Given the description of an element on the screen output the (x, y) to click on. 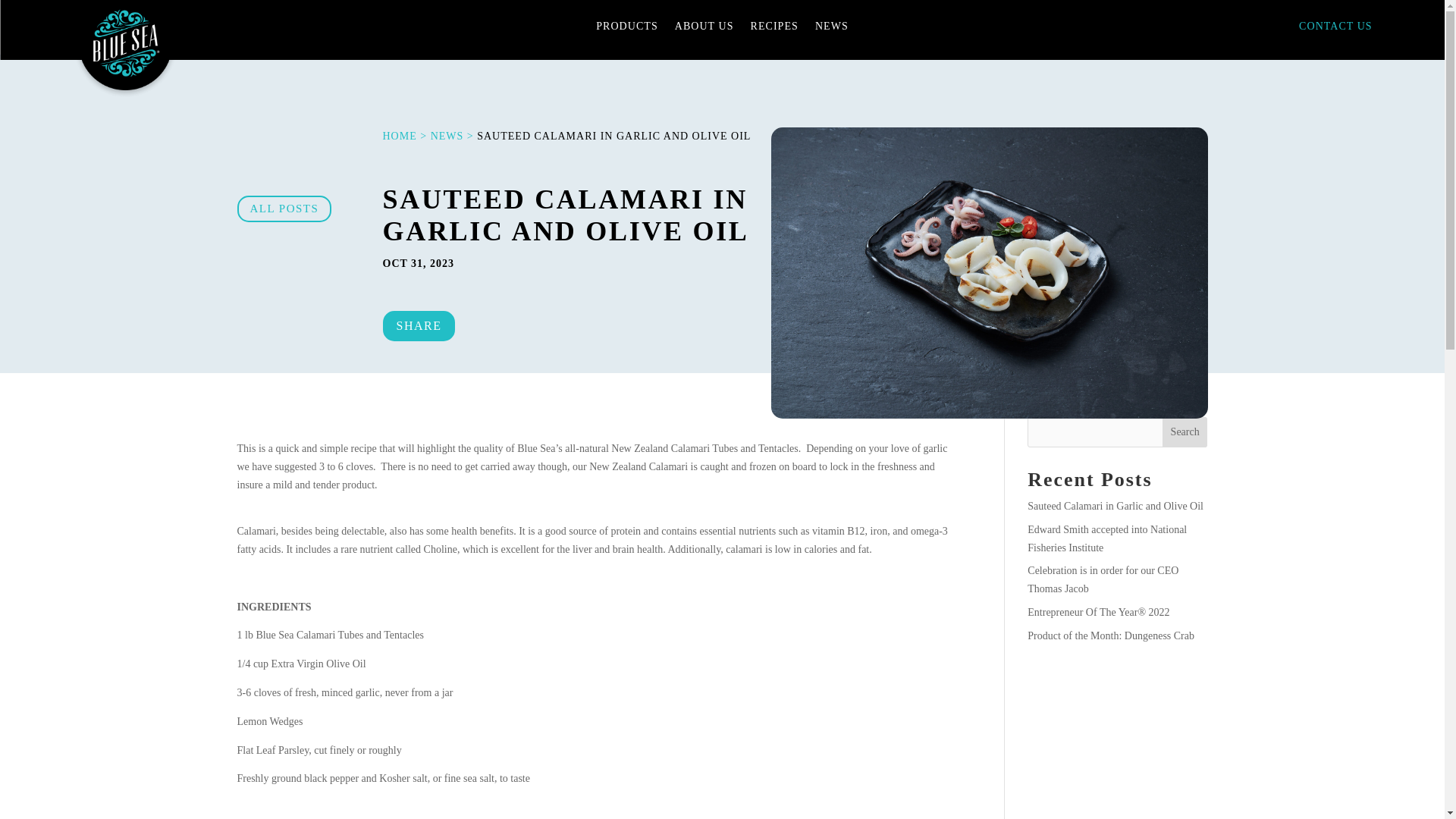
OCT 31, 2023 (575, 263)
RECIPES (774, 30)
SHARE (417, 326)
Edward Smith accepted into National Fisheries Institute (1106, 538)
Search (1184, 431)
CONTACT US (1335, 26)
HOME (398, 135)
NEWS (447, 135)
NEWS (831, 30)
ABOUT US (704, 30)
PRODUCTS (626, 30)
Sauteed Calamari in Garlic and Olive Oil (1115, 505)
Celebration is in order for our CEO Thomas Jacob (1102, 579)
ALL POSTS (283, 208)
SAUTEED CALAMARI IN GARLIC AND OLIVE OIL (575, 218)
